Given the description of an element on the screen output the (x, y) to click on. 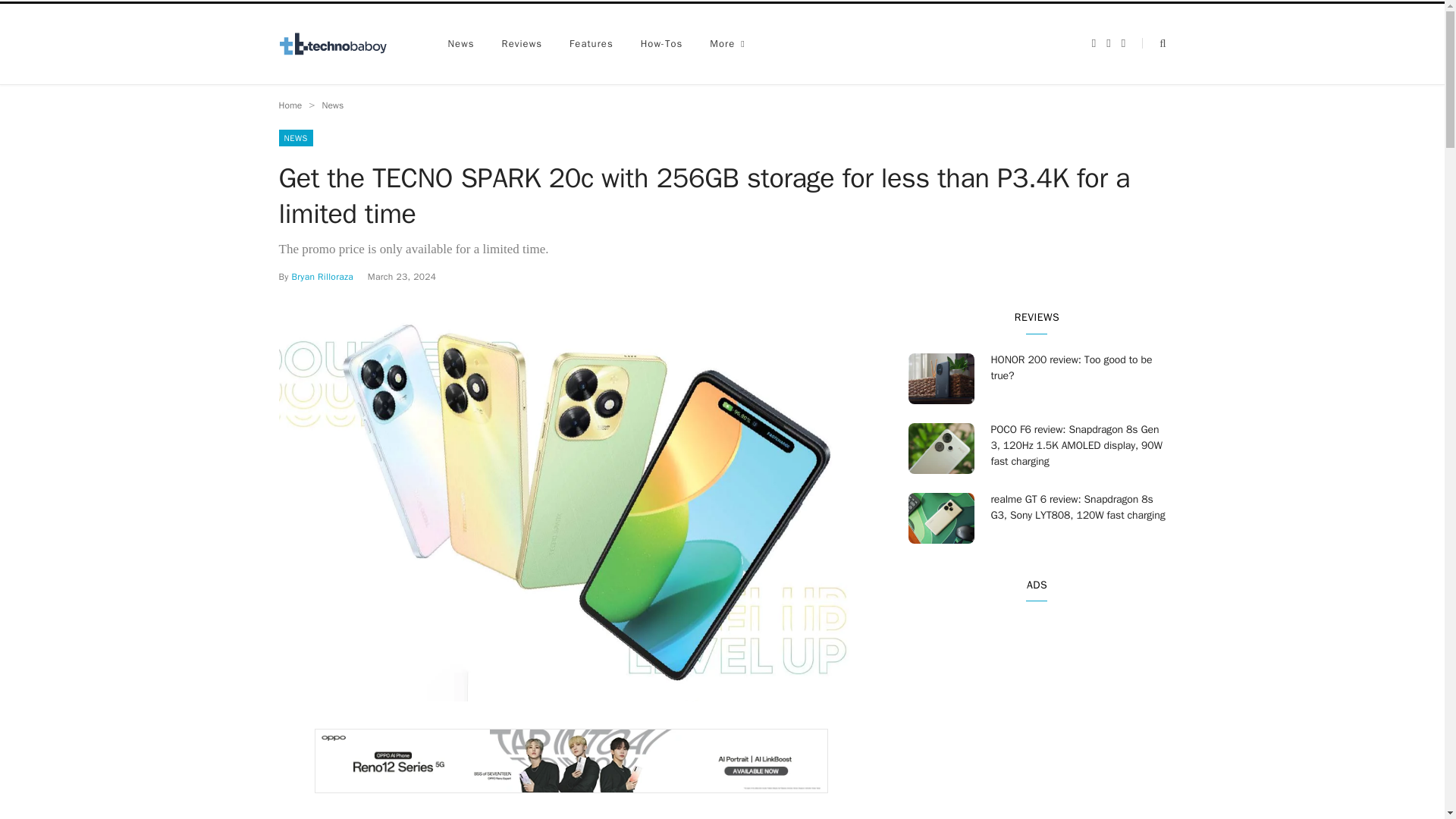
News (332, 105)
NEWS (296, 137)
Bryan Rilloraza (322, 276)
Search (1153, 43)
Posts by Bryan Rilloraza (322, 276)
Technobaboy (339, 43)
Home (290, 105)
March 23, 2024 (402, 276)
